Given the description of an element on the screen output the (x, y) to click on. 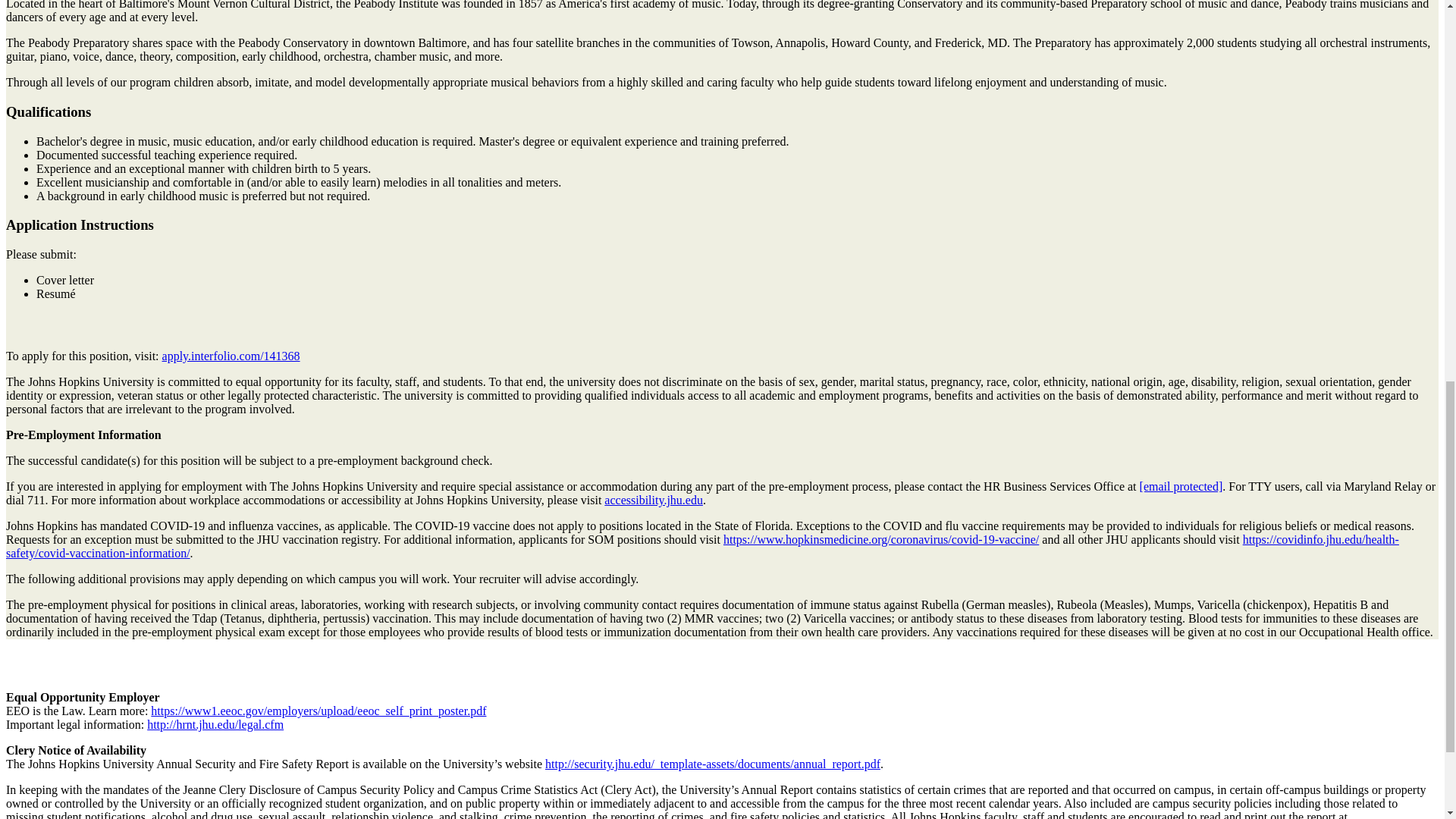
accessibility.jhu.edu (653, 499)
